Given the description of an element on the screen output the (x, y) to click on. 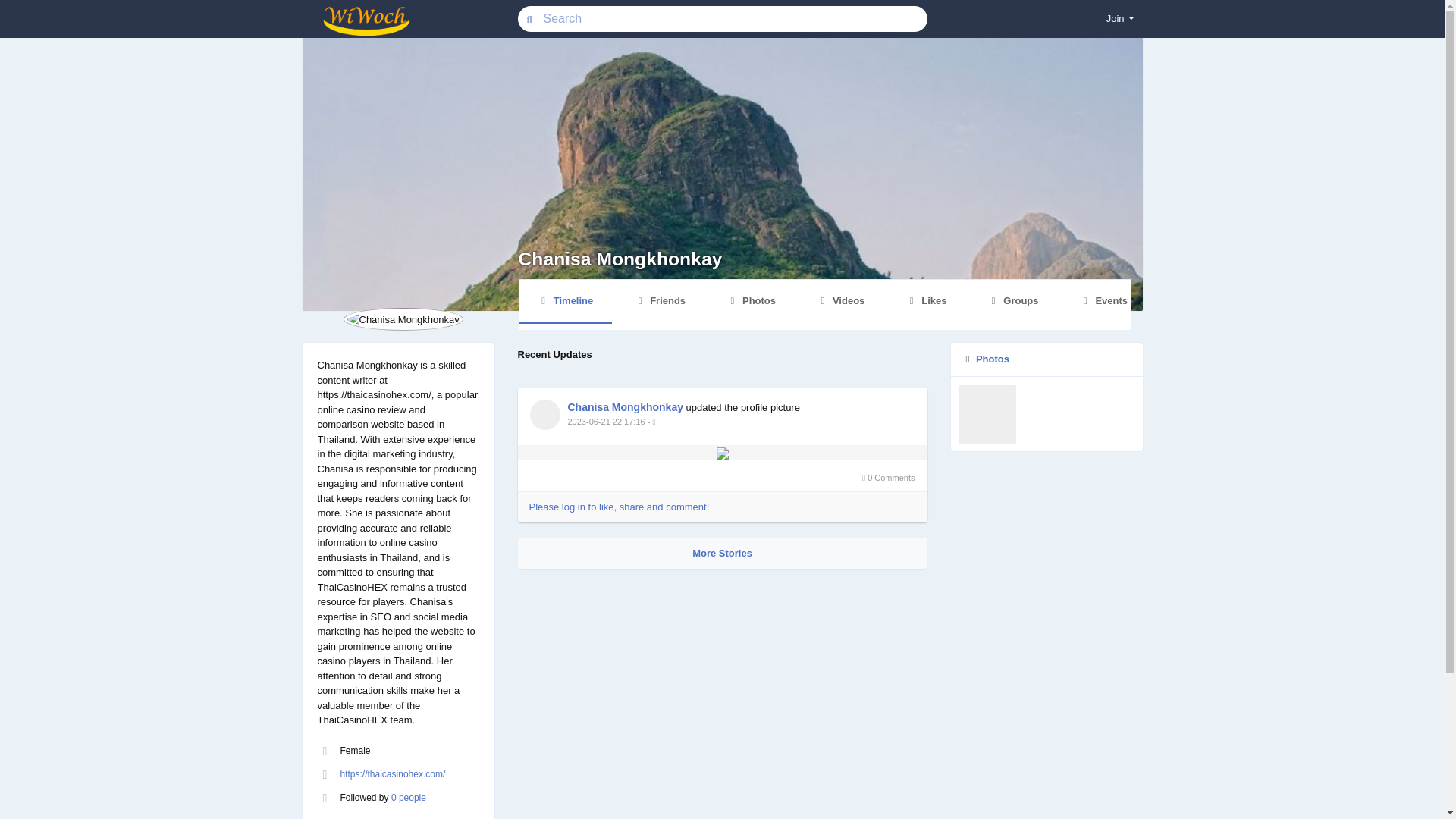
Likes (926, 301)
0 Comments (721, 477)
Join (1119, 18)
Groups (1012, 301)
Events (1103, 301)
Photos (992, 358)
Photos (750, 301)
Chanisa Mongkhonkay (620, 258)
Chanisa Mongkhonkay (624, 407)
Timeline (565, 301)
MyPlace (363, 20)
0 people (408, 796)
Friends (659, 301)
Videos (824, 304)
